Given the description of an element on the screen output the (x, y) to click on. 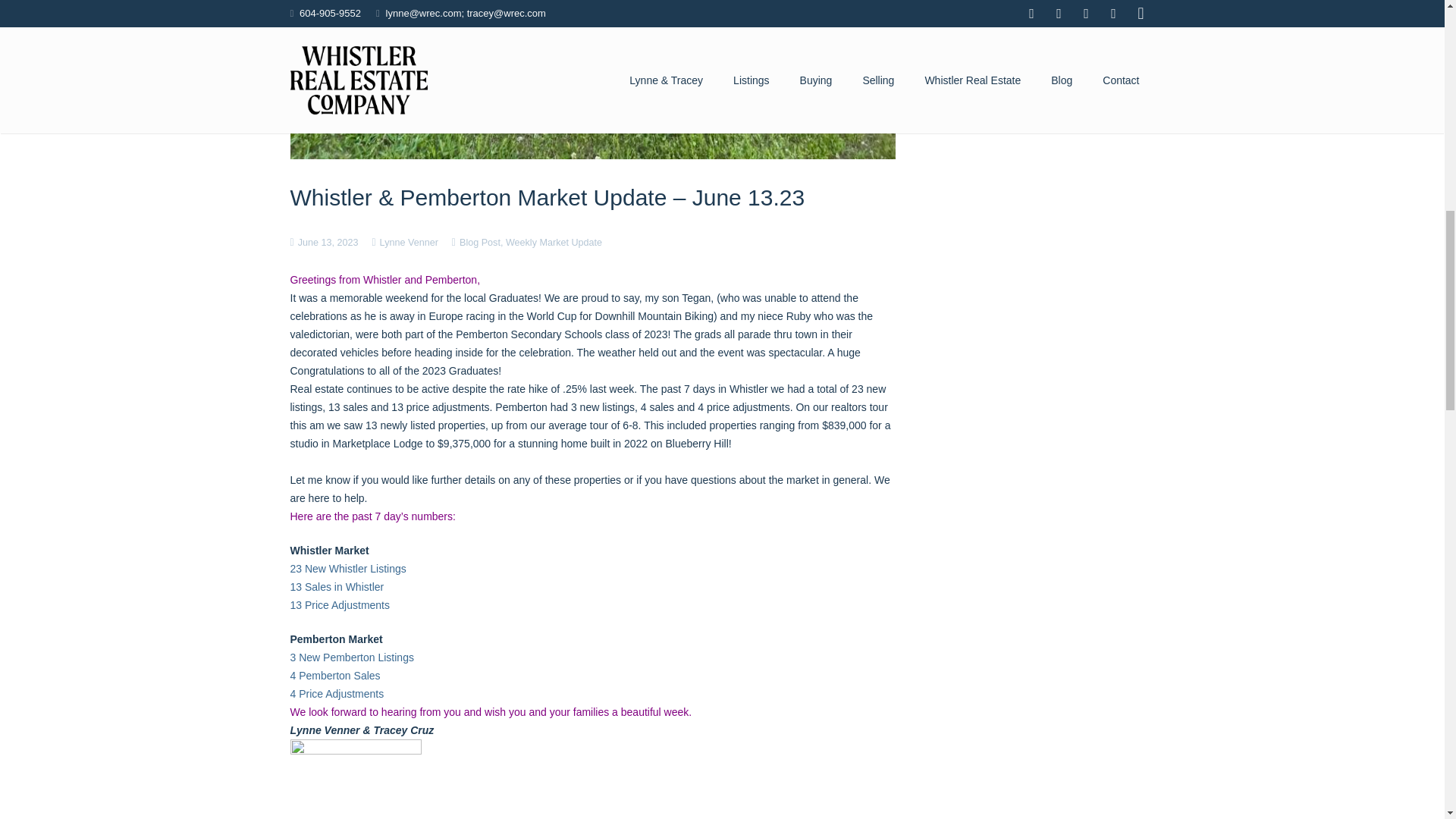
23 New Whistler Listings (347, 568)
4 Pemberton Sales (334, 675)
Weekly Market Update (553, 242)
13 Price Adjustments (339, 604)
4 Price Adjustments (336, 693)
Back to top (1413, 22)
13 Sales in Whistler (336, 586)
Lynne Venner (409, 242)
Blog Post (480, 242)
3 New Pemberton Listings (351, 657)
